Given the description of an element on the screen output the (x, y) to click on. 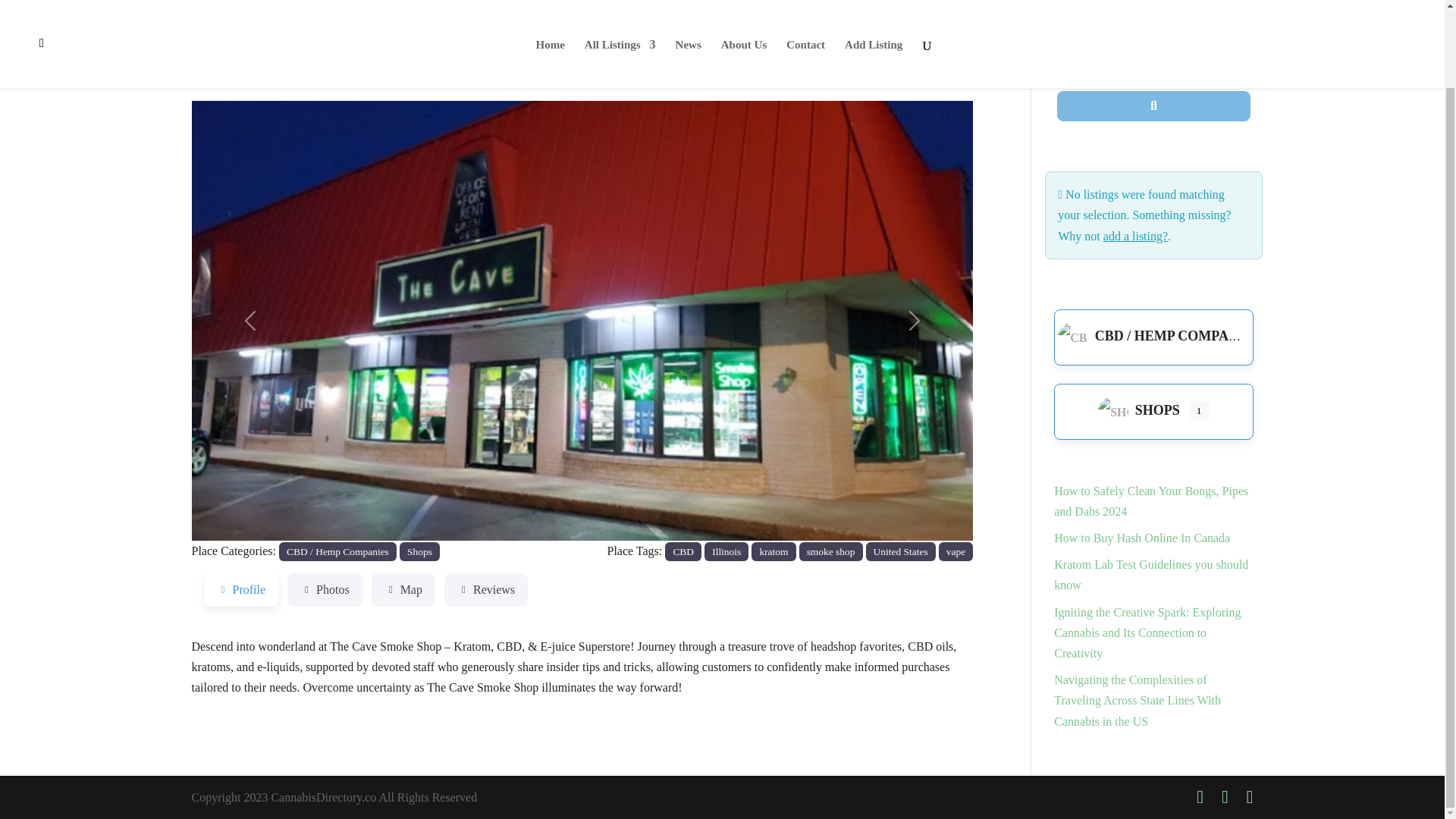
Search (1153, 105)
Contact (805, 0)
smoke shop (831, 551)
CBD (683, 551)
All Listings (620, 0)
Photos (324, 589)
Add Listing (873, 0)
Shops (418, 551)
kratom (772, 551)
Profile (240, 589)
Map (403, 589)
Reviews (485, 589)
Photos (324, 589)
add a listing? (1135, 236)
United States (901, 551)
